Given the description of an element on the screen output the (x, y) to click on. 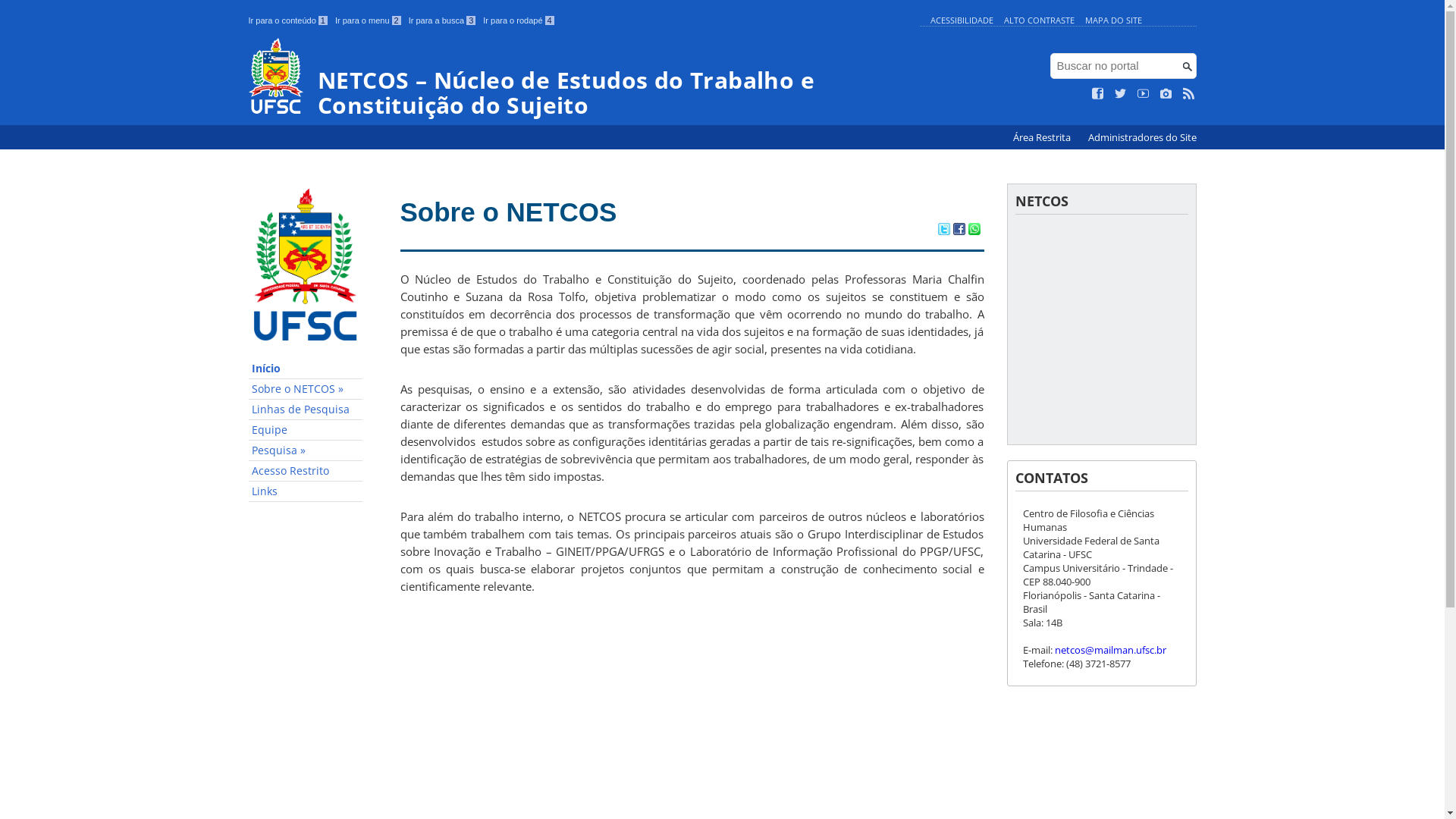
Compartilhar no Twitter Element type: hover (943, 230)
Veja no Instagram Element type: hover (1166, 93)
Links Element type: text (305, 491)
Curta no Facebook Element type: hover (1098, 93)
Linhas de Pesquisa Element type: text (305, 409)
Administradores do Site Element type: text (1141, 137)
Siga no Twitter Element type: hover (1120, 93)
netcos@mailman.ufsc.br Element type: text (1109, 649)
Ir para a busca 3 Element type: text (442, 20)
ACESSIBILIDADE Element type: text (960, 19)
Compartilhar no WhatsApp Element type: hover (973, 230)
ALTO CONTRASTE Element type: text (1039, 19)
Sobre o NETCOS Element type: text (508, 211)
Acesso Restrito Element type: text (305, 471)
Compartilhar no Facebook Element type: hover (958, 230)
Ir para o menu 2 Element type: text (368, 20)
MAPA DO SITE Element type: text (1112, 19)
Equipe Element type: text (305, 430)
